Given the description of an element on the screen output the (x, y) to click on. 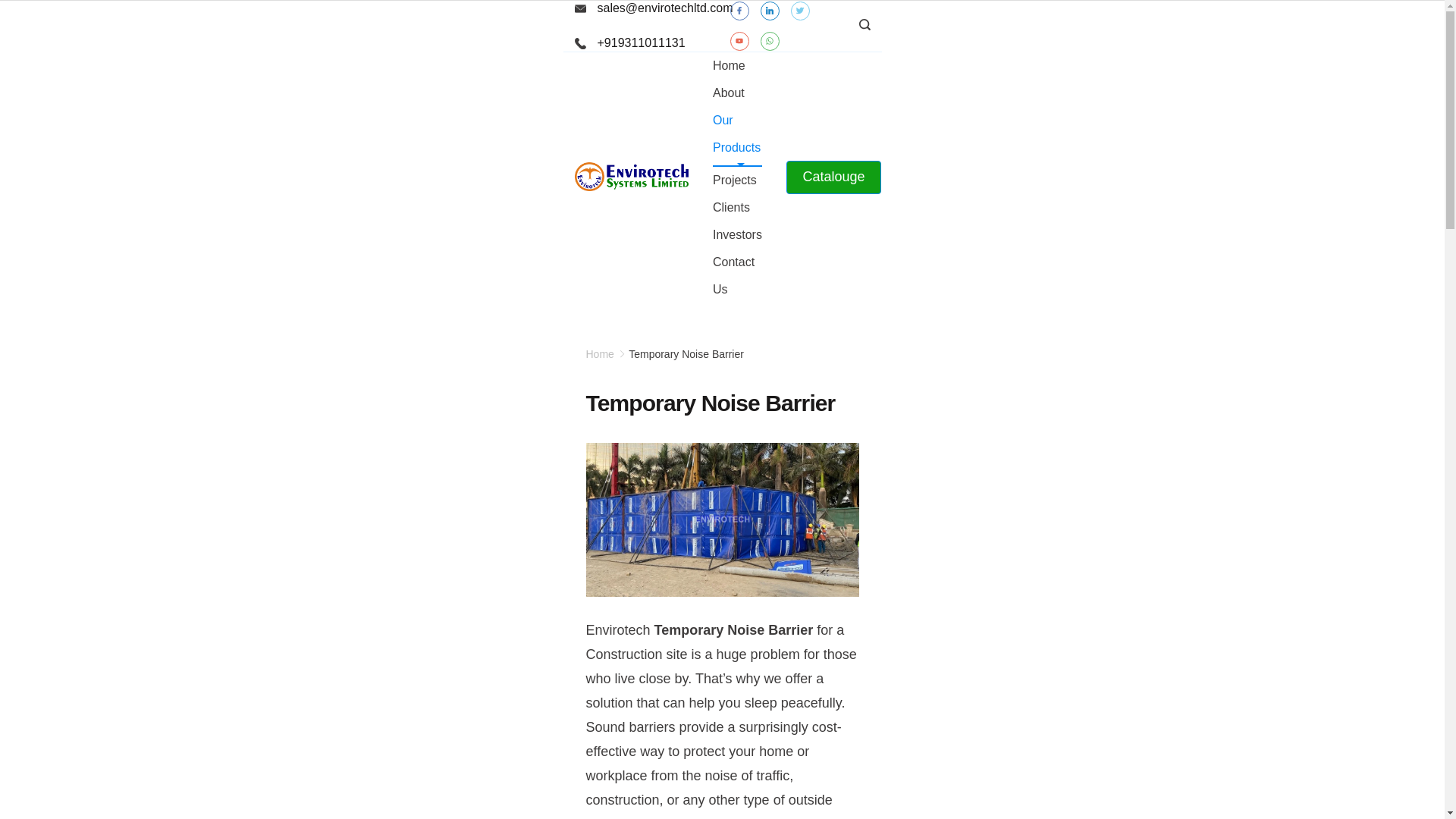
Home (729, 65)
Our Products (737, 137)
About (728, 93)
